Given the description of an element on the screen output the (x, y) to click on. 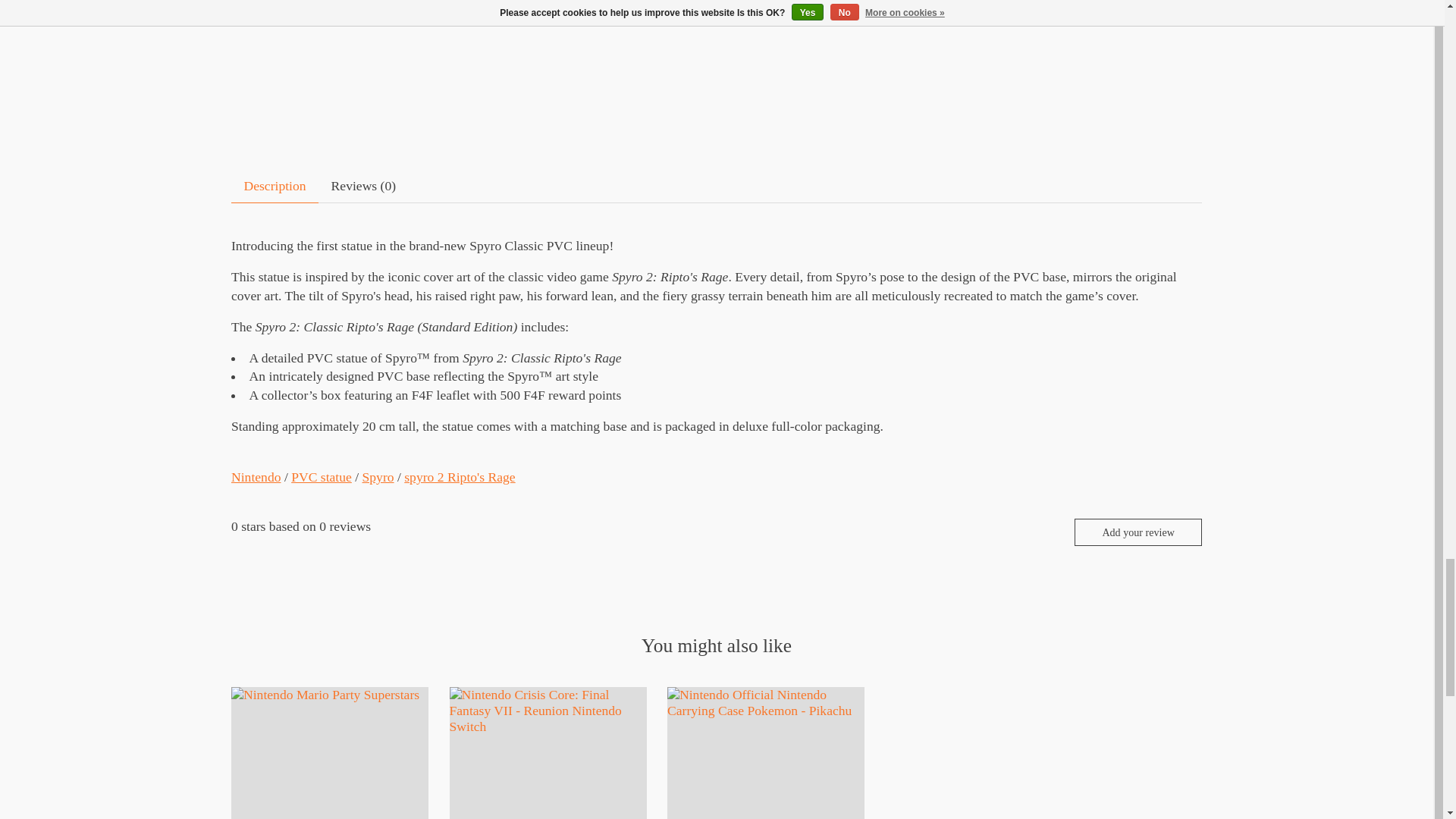
Spyro (378, 476)
Nintendo (256, 476)
PVC statue (321, 476)
